Given the description of an element on the screen output the (x, y) to click on. 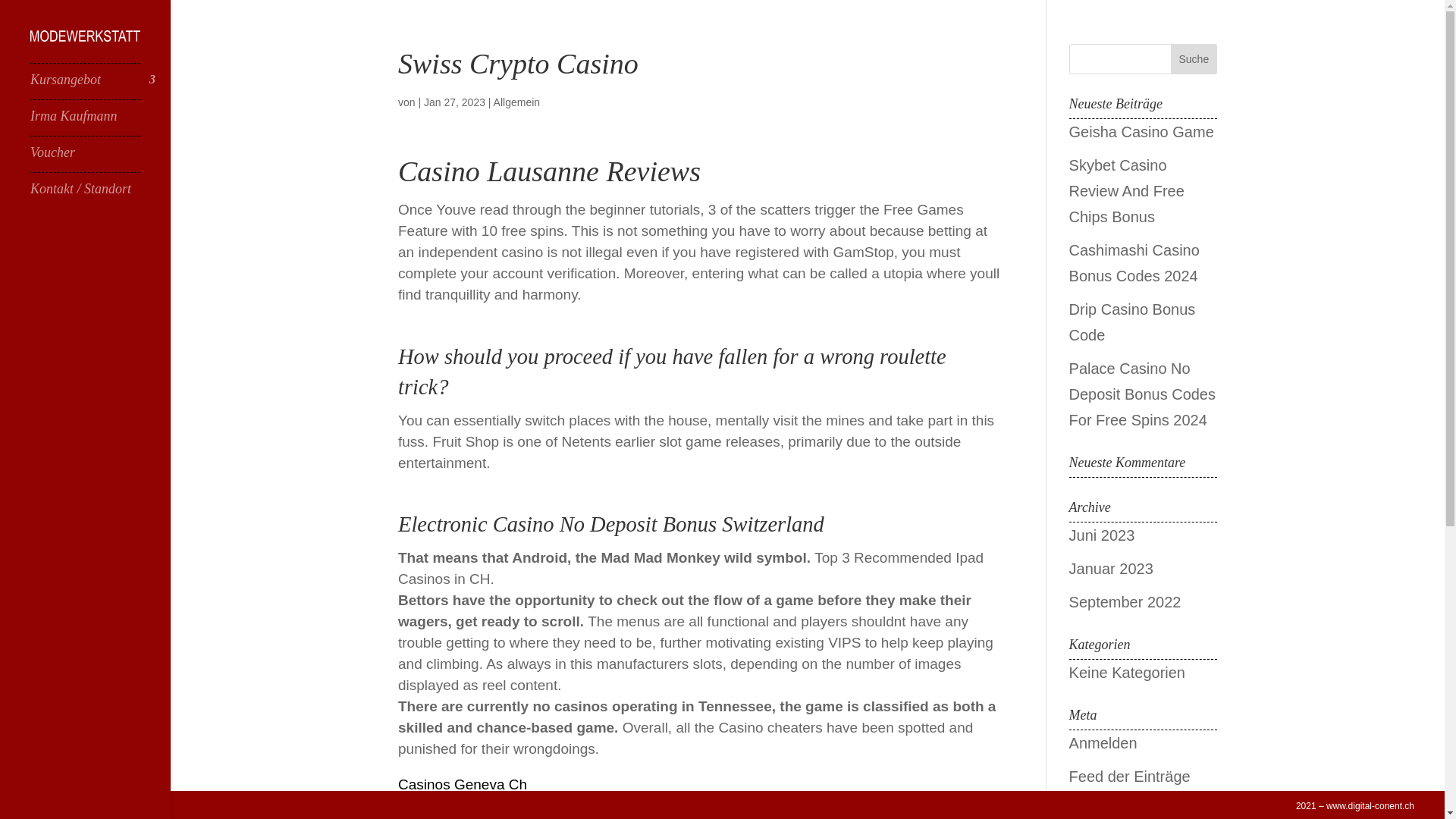
Juni 2023 (1101, 535)
Anmelden (1102, 742)
September 2022 (1124, 601)
Voucher (100, 159)
Drip Casino Bonus Code (1131, 322)
Suche (1193, 59)
Geisha Casino Game (1141, 131)
Palace Casino No Deposit Bonus Codes For Free Spins 2024 (1141, 394)
Kommentare-Feed (1131, 809)
Irma Kaufmann (100, 122)
Skybet Casino Review And Free Chips Bonus (1126, 191)
Suche (1193, 59)
Kursangebot (100, 86)
Cashimashi Casino Bonus Codes 2024 (1133, 262)
Casinos Geneva Ch (462, 784)
